Given the description of an element on the screen output the (x, y) to click on. 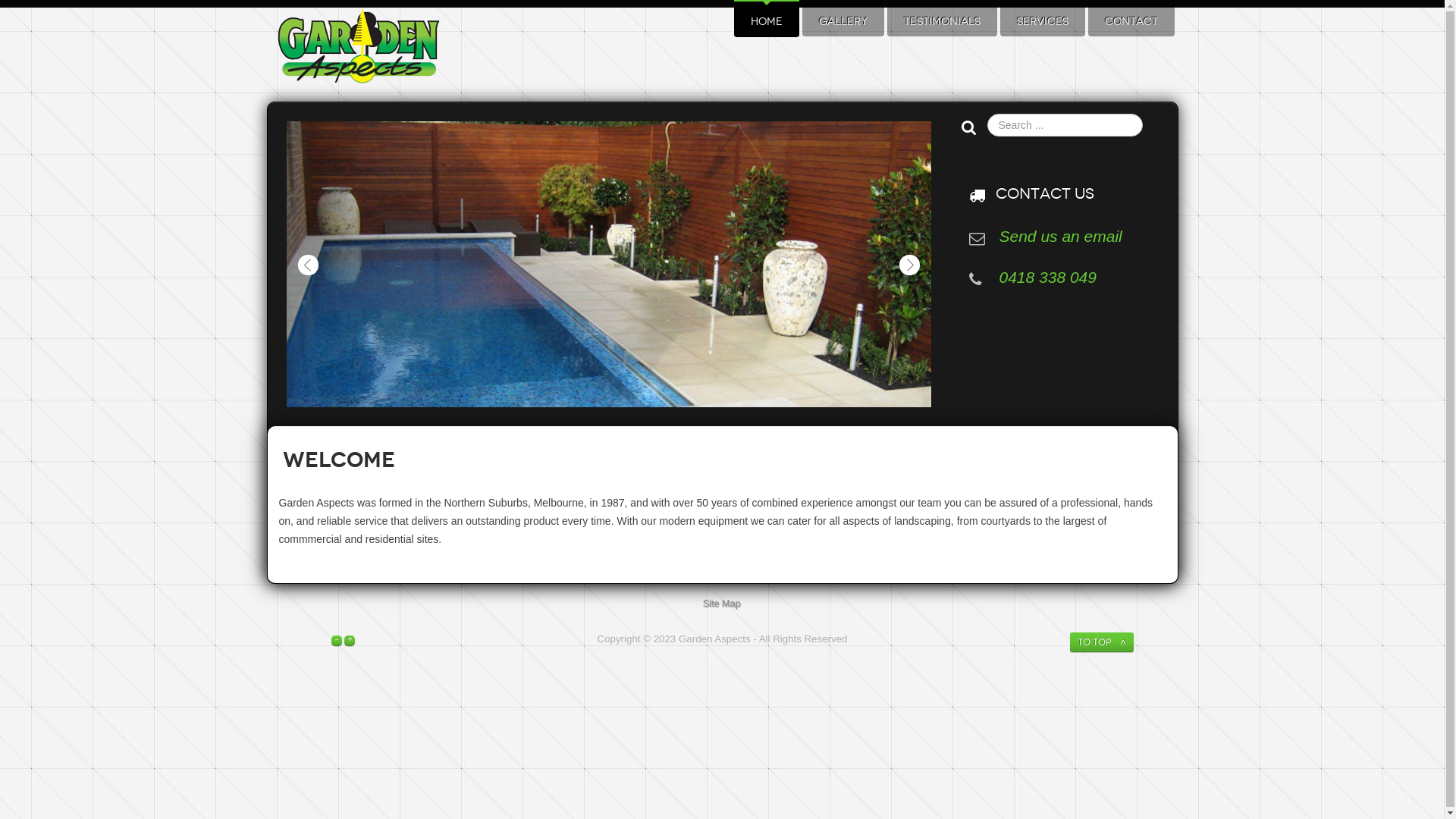
TESTIMONIALS Element type: text (942, 21)
SERVICES Element type: text (1041, 21)
HOME Element type: text (766, 21)
0418 338 049 Element type: text (1047, 276)
GALLERY Element type: text (843, 21)
Decrease Font Size Element type: hover (336, 638)
Site Map Element type: text (722, 603)
Send us an email Element type: text (1060, 235)
Increase Font Size Element type: hover (349, 638)
To Top Element type: text (1100, 642)
CONTACT Element type: text (1130, 21)
